Given the description of an element on the screen output the (x, y) to click on. 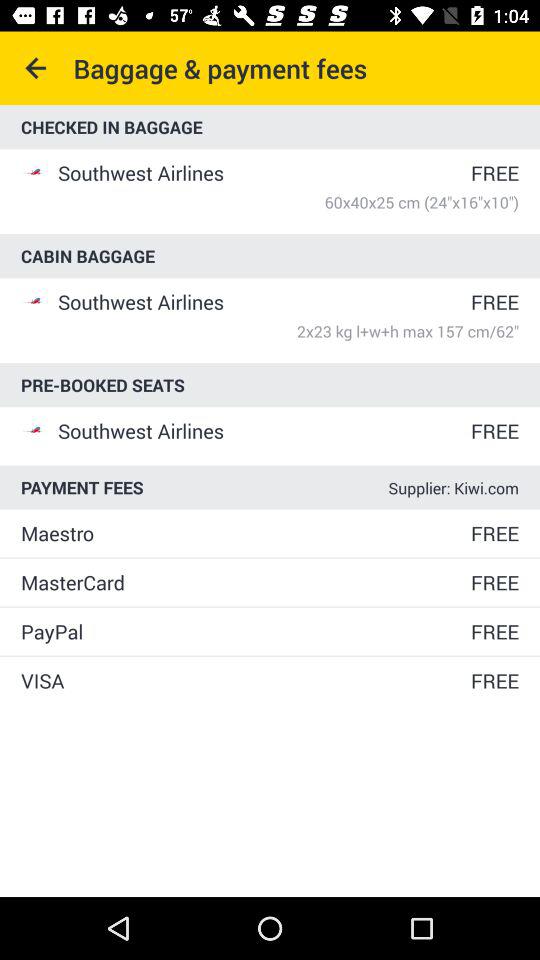
open the item next to the free icon (244, 533)
